Given the description of an element on the screen output the (x, y) to click on. 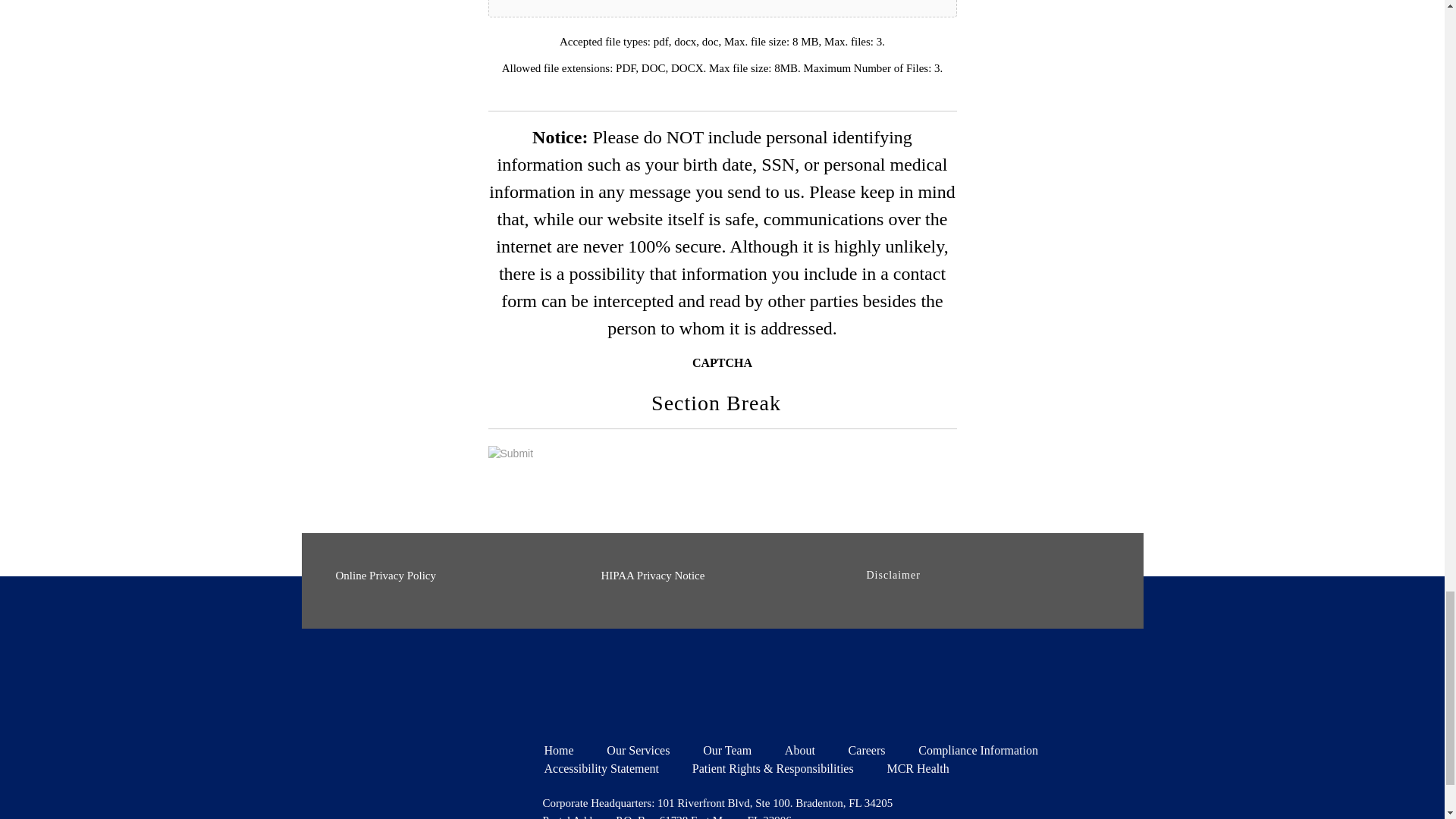
MCR Health (917, 768)
Home (558, 749)
Online Privacy Policy (384, 575)
Our Services (638, 749)
Careers (866, 749)
Accessibility Statement (601, 768)
Our Team (727, 749)
About (799, 749)
Compliance Information (978, 749)
HIPAA Privacy Notice (651, 575)
Disclaimer (893, 574)
